Given the description of an element on the screen output the (x, y) to click on. 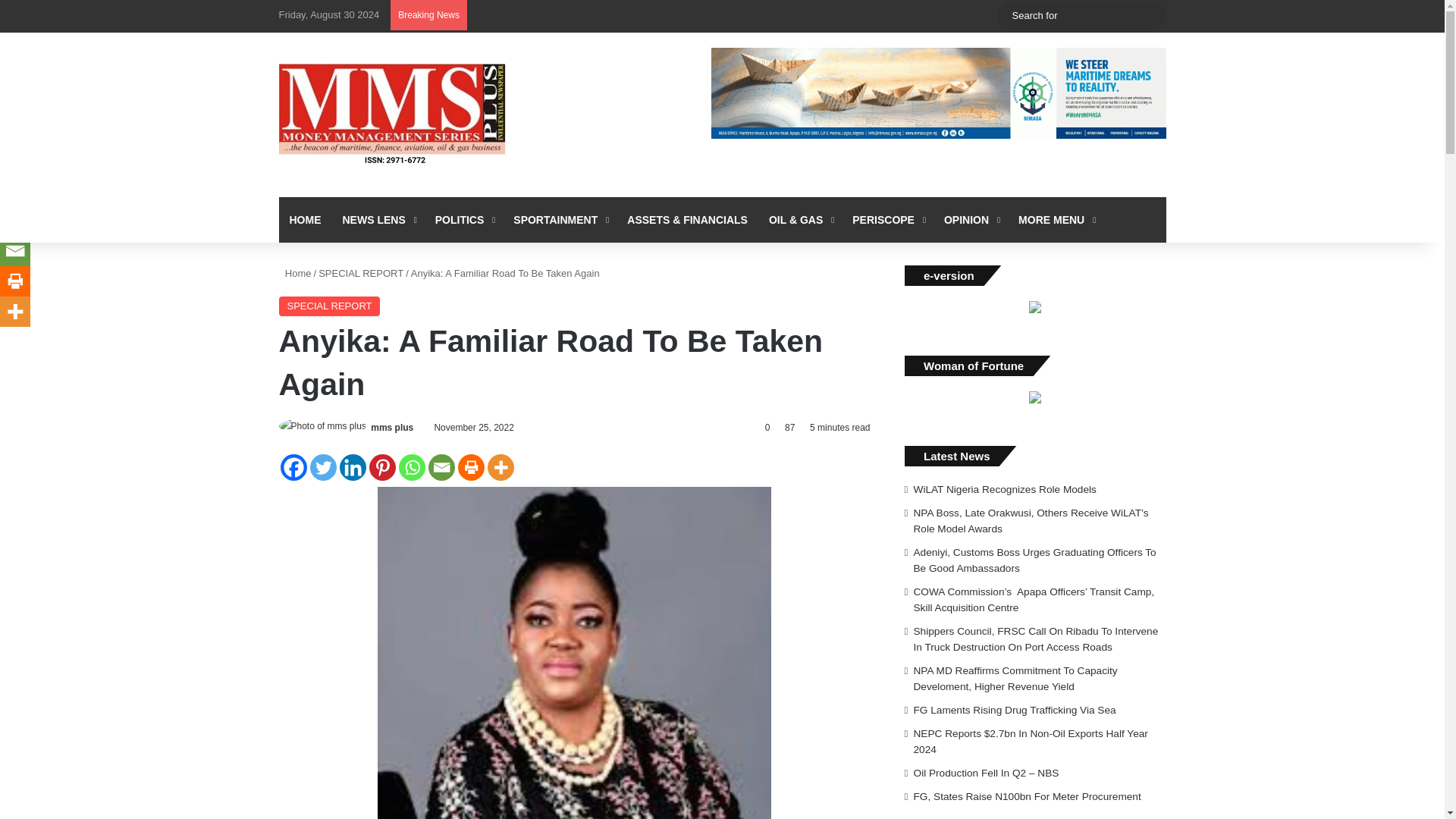
Print (471, 467)
MORE MENU (1055, 219)
MMS PLUS NG - Maritime, Aviation, Business, Oil and Gas News (392, 115)
Email (441, 467)
NEWS LENS (378, 219)
Search for (1150, 15)
mms plus (392, 427)
HOME (305, 219)
Whatsapp (411, 467)
OPINION (970, 219)
